Given the description of an element on the screen output the (x, y) to click on. 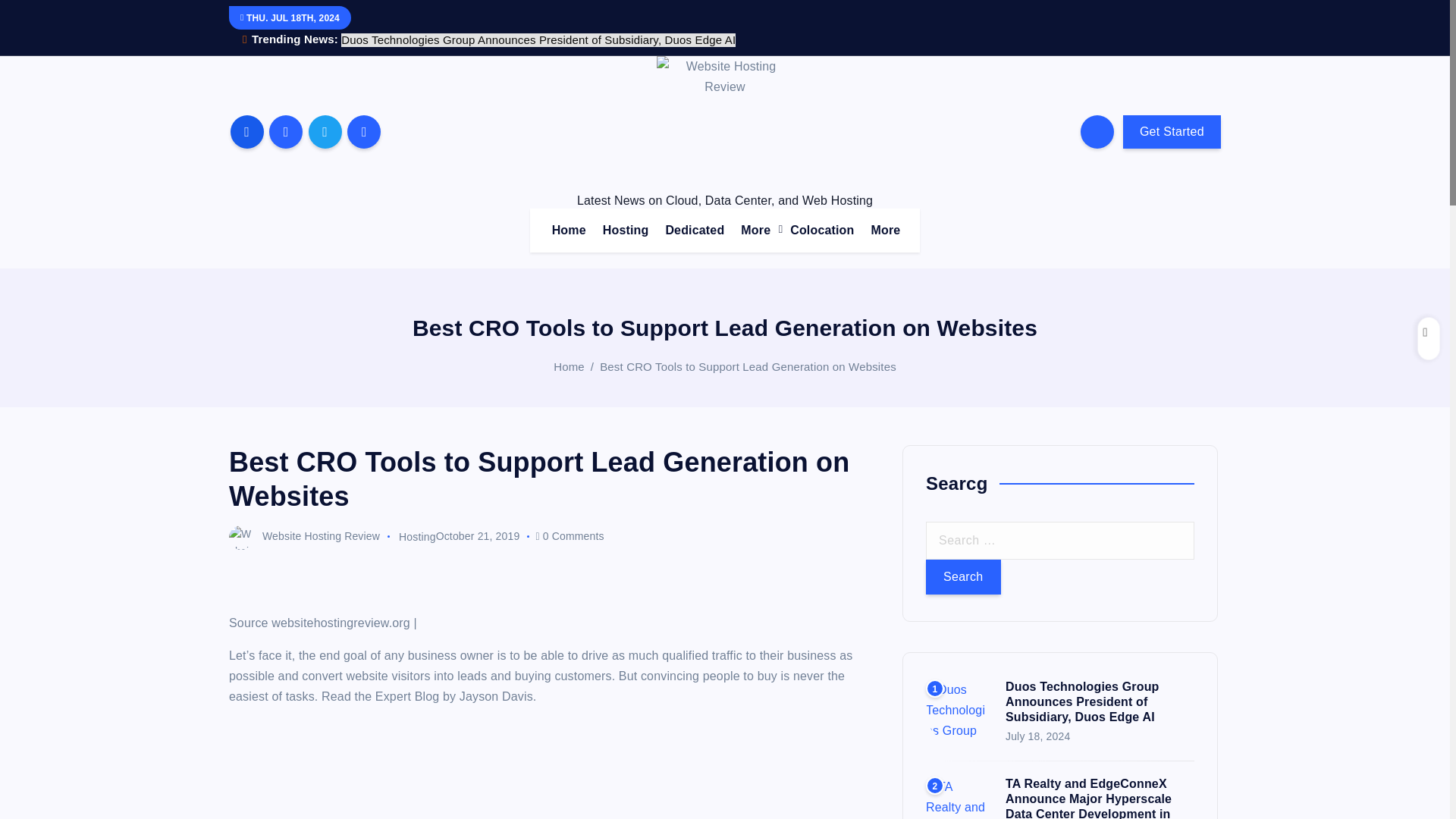
Hosting (626, 230)
Search (963, 576)
Home (569, 366)
More (757, 230)
More (884, 230)
Dedicated (694, 230)
More Articles (884, 230)
Web Hosting Articles (626, 230)
Colocation Articles (821, 230)
Search (963, 576)
Dedicated Hosting Articles (694, 230)
Colocation (821, 230)
Get Started (1171, 131)
More (757, 230)
Home (569, 230)
